Given the description of an element on the screen output the (x, y) to click on. 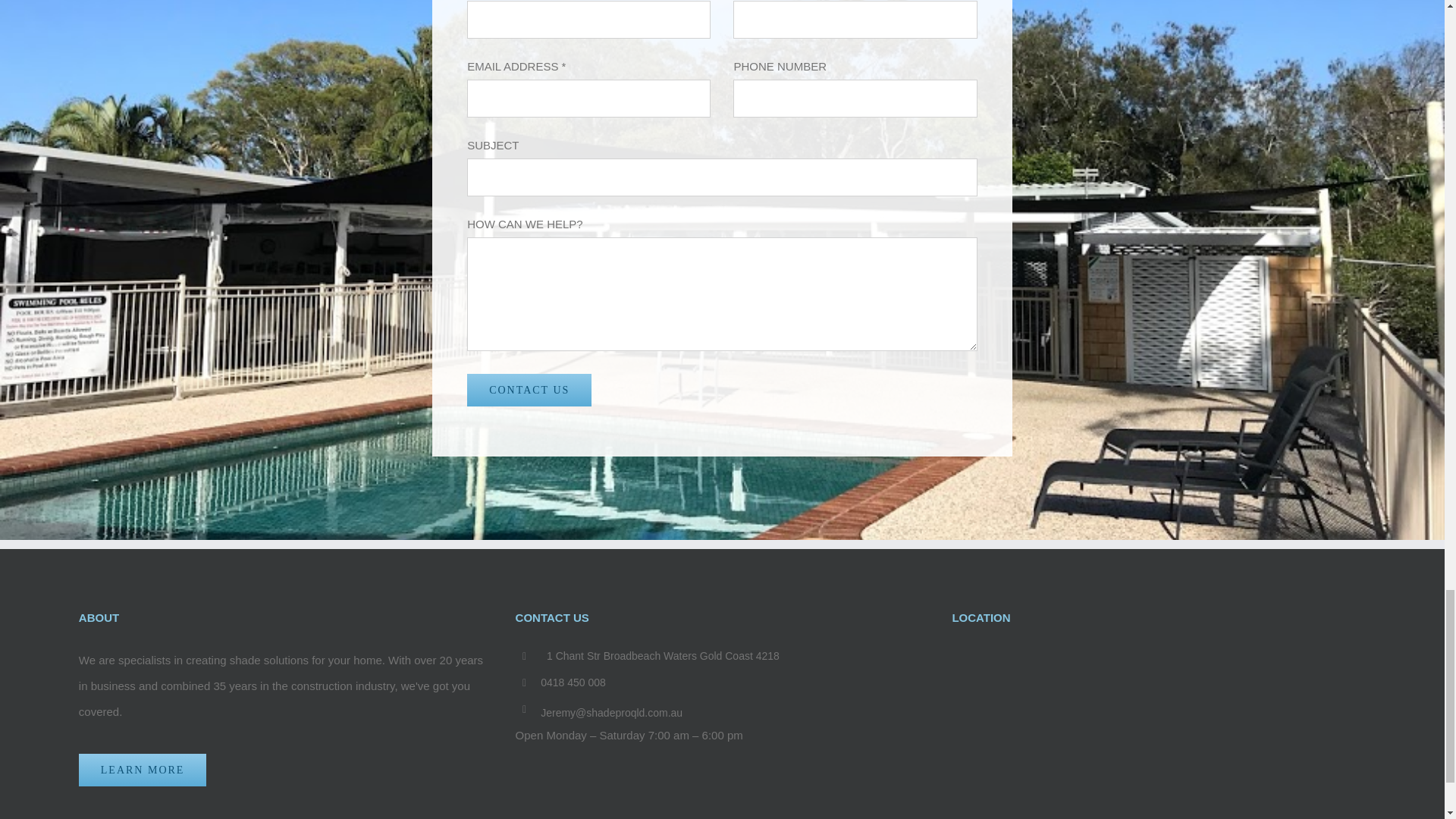
LEARN MORE (142, 769)
CONTACT US (529, 389)
CONTACT US (529, 389)
